Given the description of an element on the screen output the (x, y) to click on. 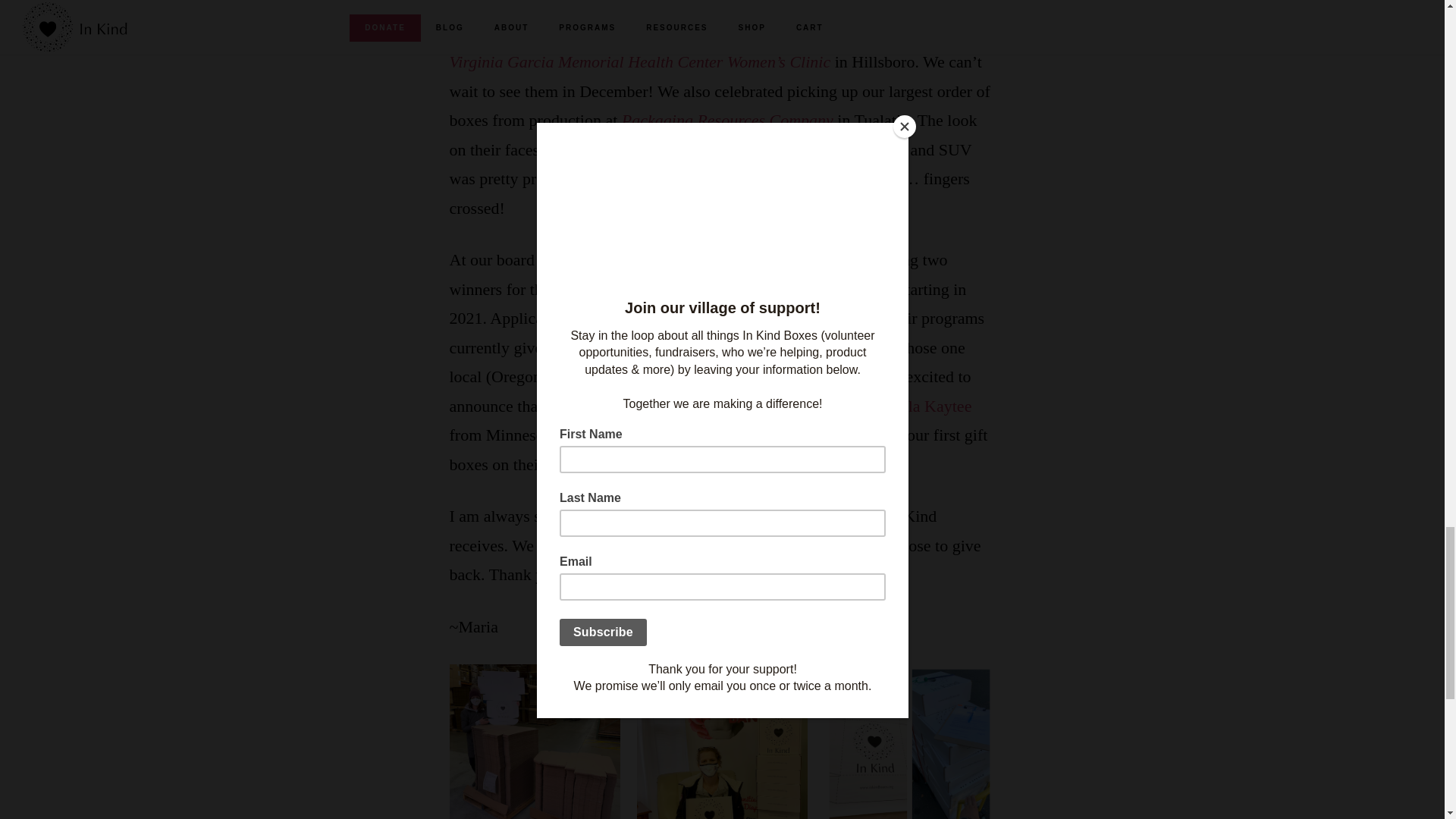
PNW Doulas (670, 405)
Doula Kaytee (925, 405)
Packaging Resources Company (726, 119)
